Given the description of an element on the screen output the (x, y) to click on. 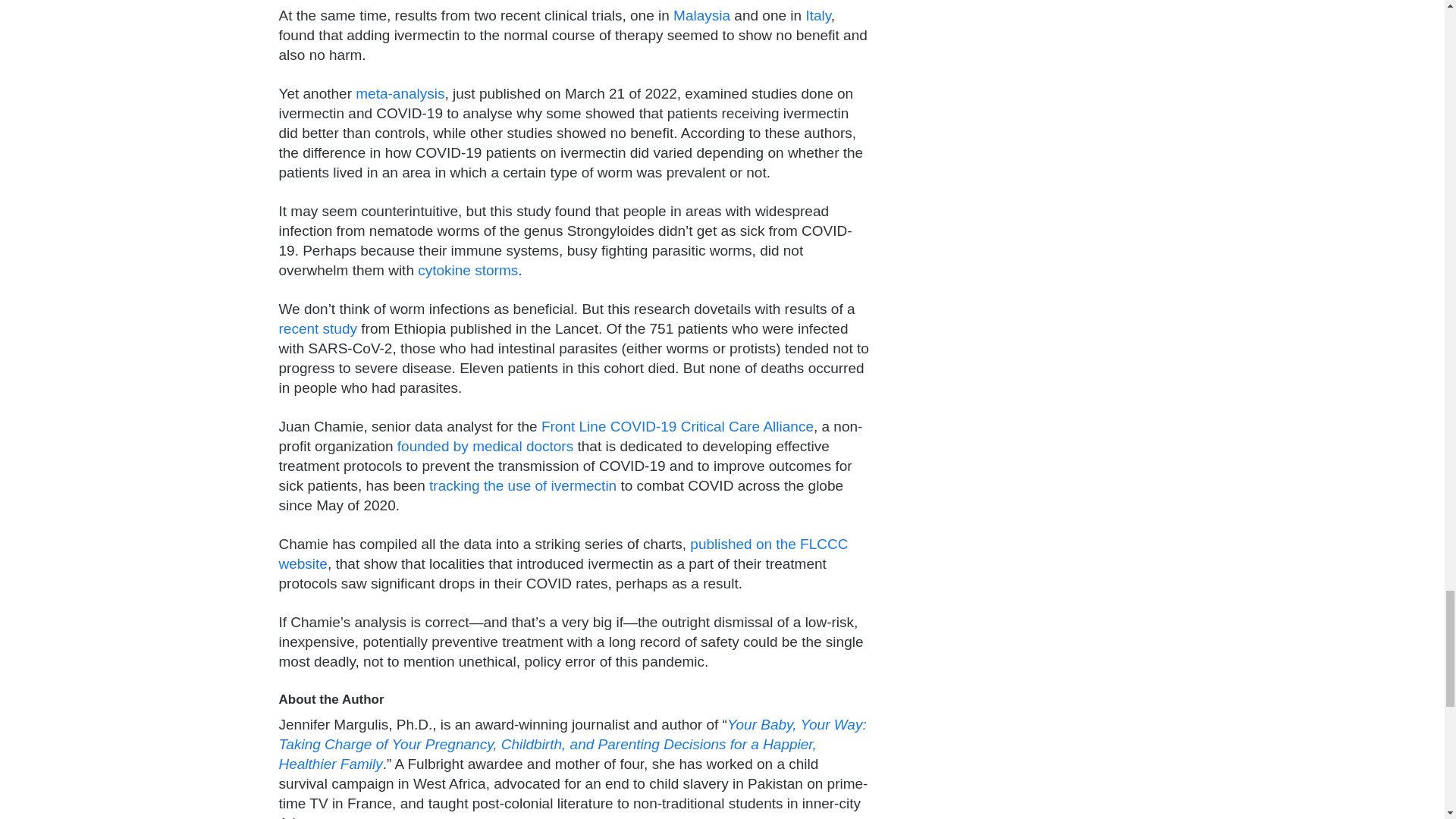
cytokine storms (467, 270)
meta-analysis (399, 93)
founded by medical doctors (485, 446)
recent study (318, 328)
Italy (817, 15)
Malaysia (701, 15)
Front Line COVID-19 Critical Care Alliance (677, 426)
